Given the description of an element on the screen output the (x, y) to click on. 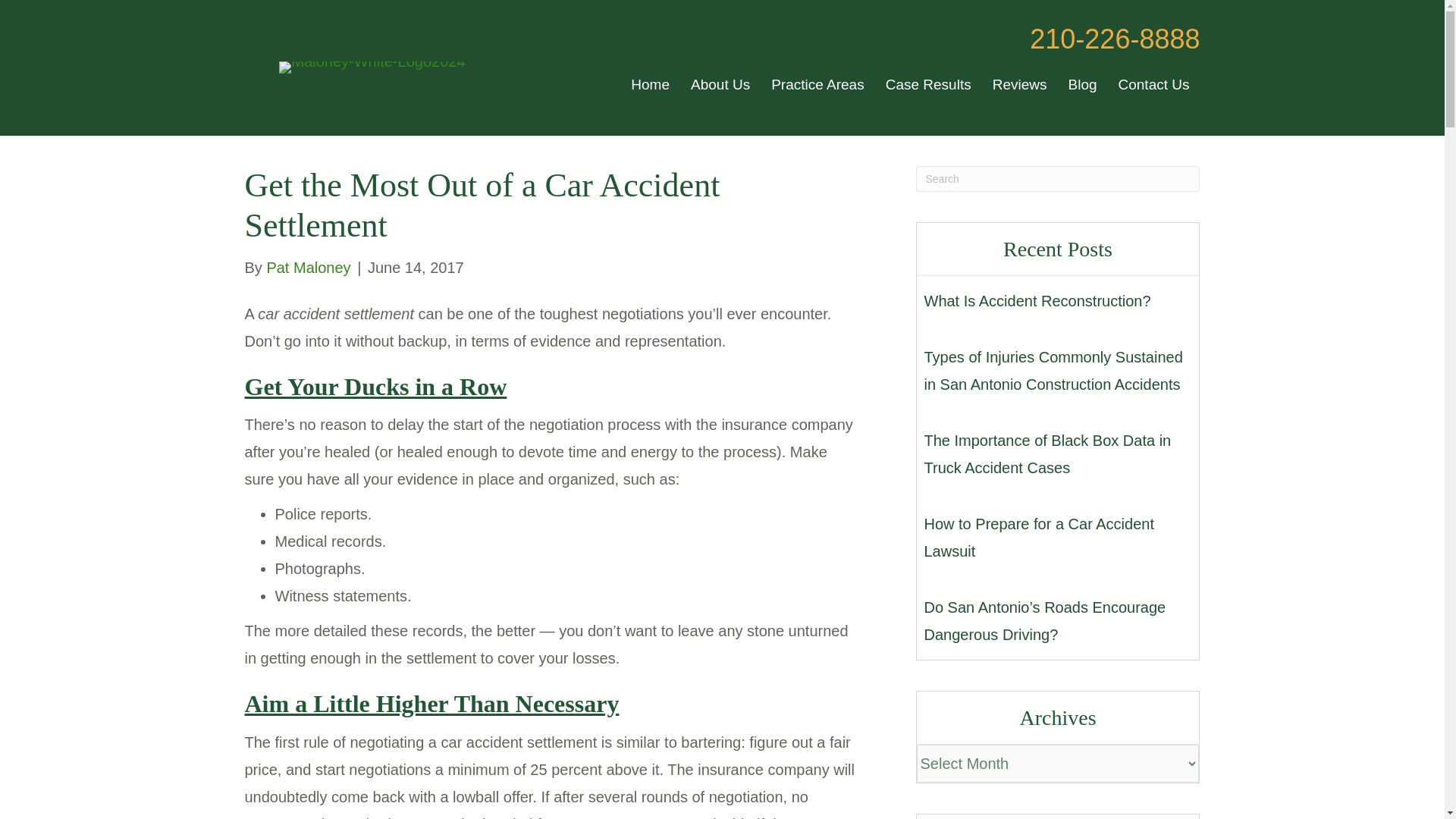
Home (649, 84)
Contact Us (1153, 84)
About Us (719, 84)
Reviews (1019, 84)
Blog (1081, 84)
Case Results (928, 84)
210-226-8888 (1114, 38)
Type and press Enter to search. (1057, 178)
Maloney-White-Logo2024 (371, 67)
Practice Areas (817, 84)
